Given the description of an element on the screen output the (x, y) to click on. 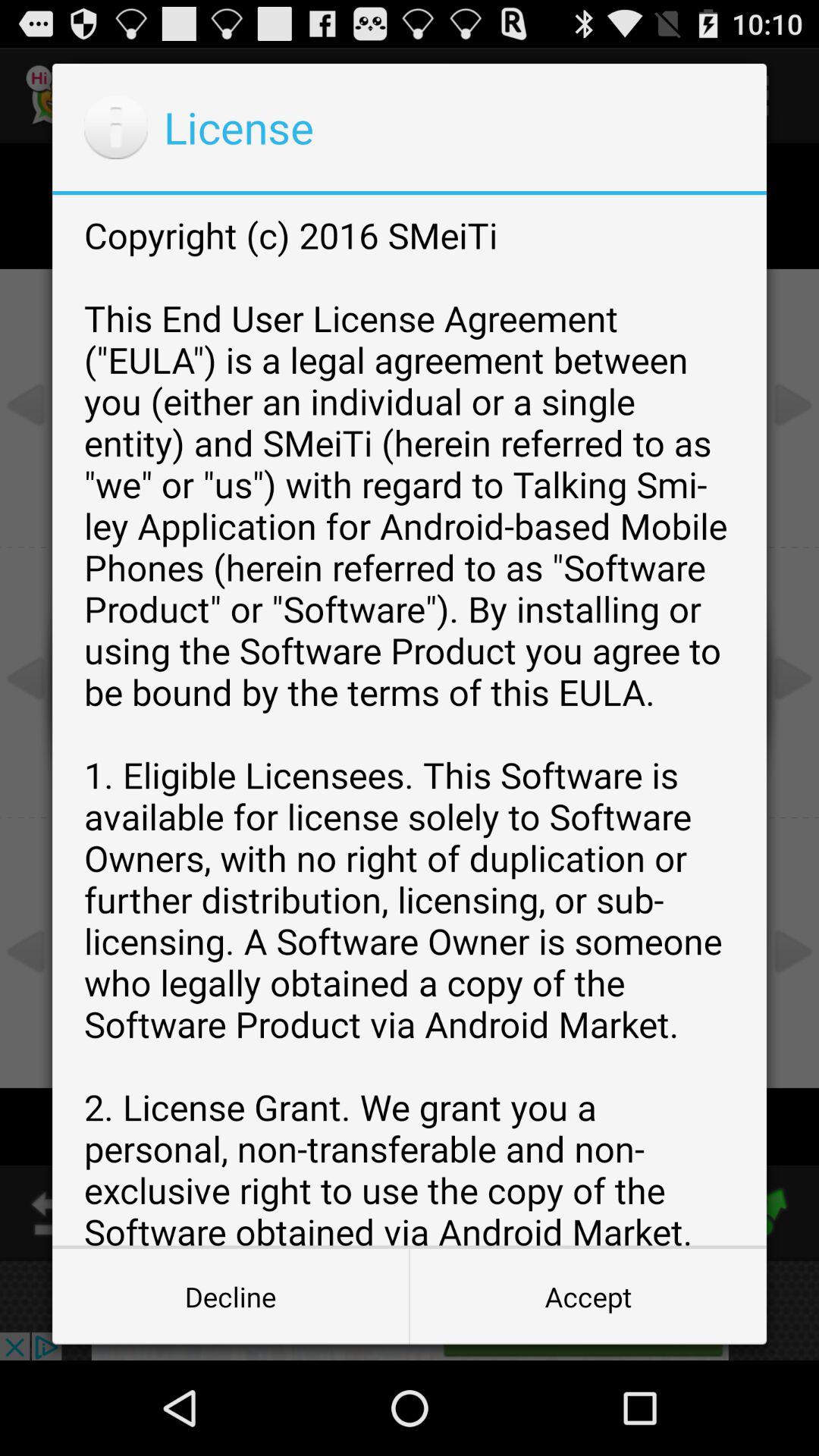
turn off icon next to accept item (230, 1296)
